Given the description of an element on the screen output the (x, y) to click on. 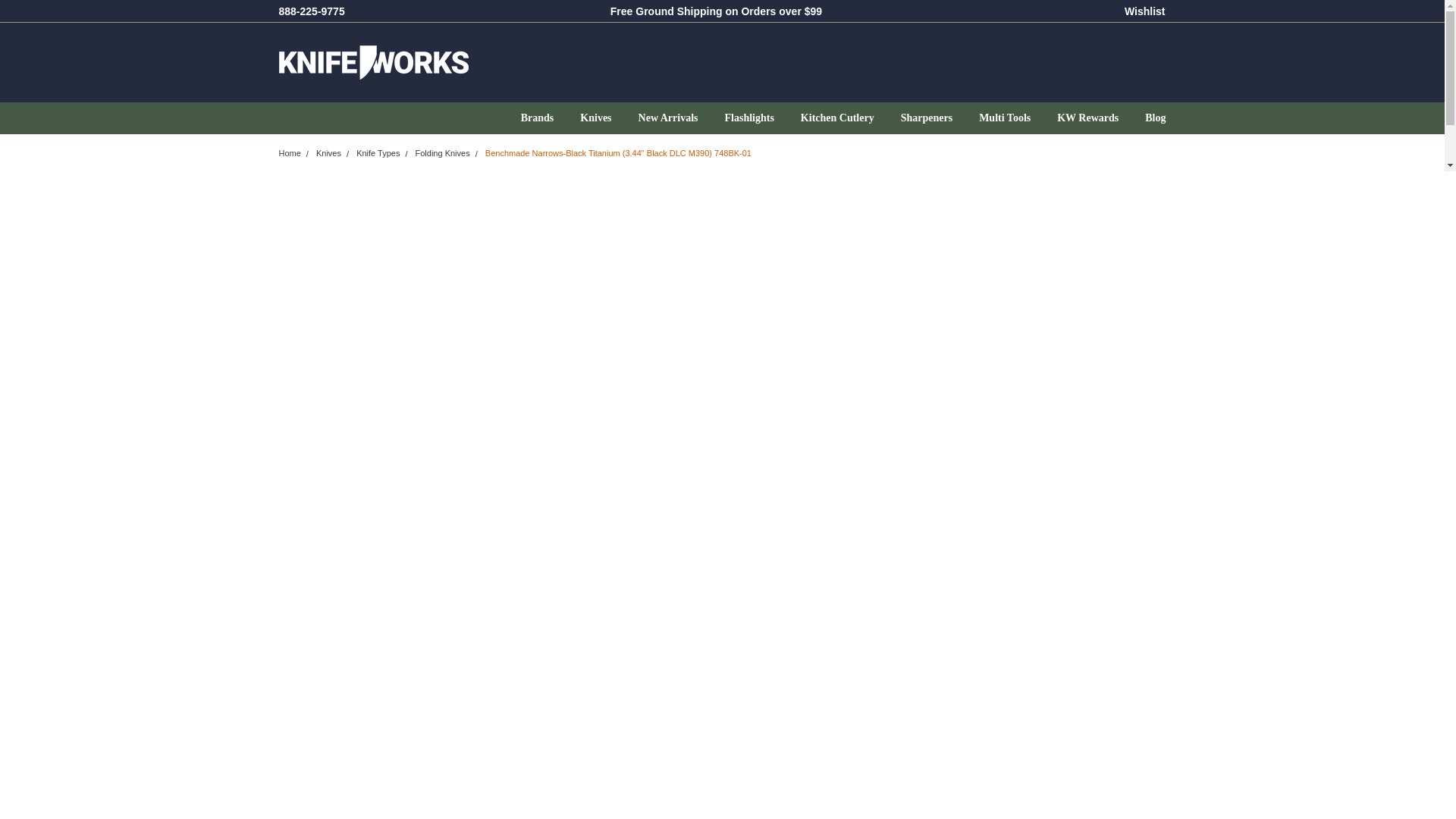
Knifeworks (373, 62)
KnifeWorks (500, 62)
Wishlist (1145, 10)
888-225-9775 (312, 10)
